Given the description of an element on the screen output the (x, y) to click on. 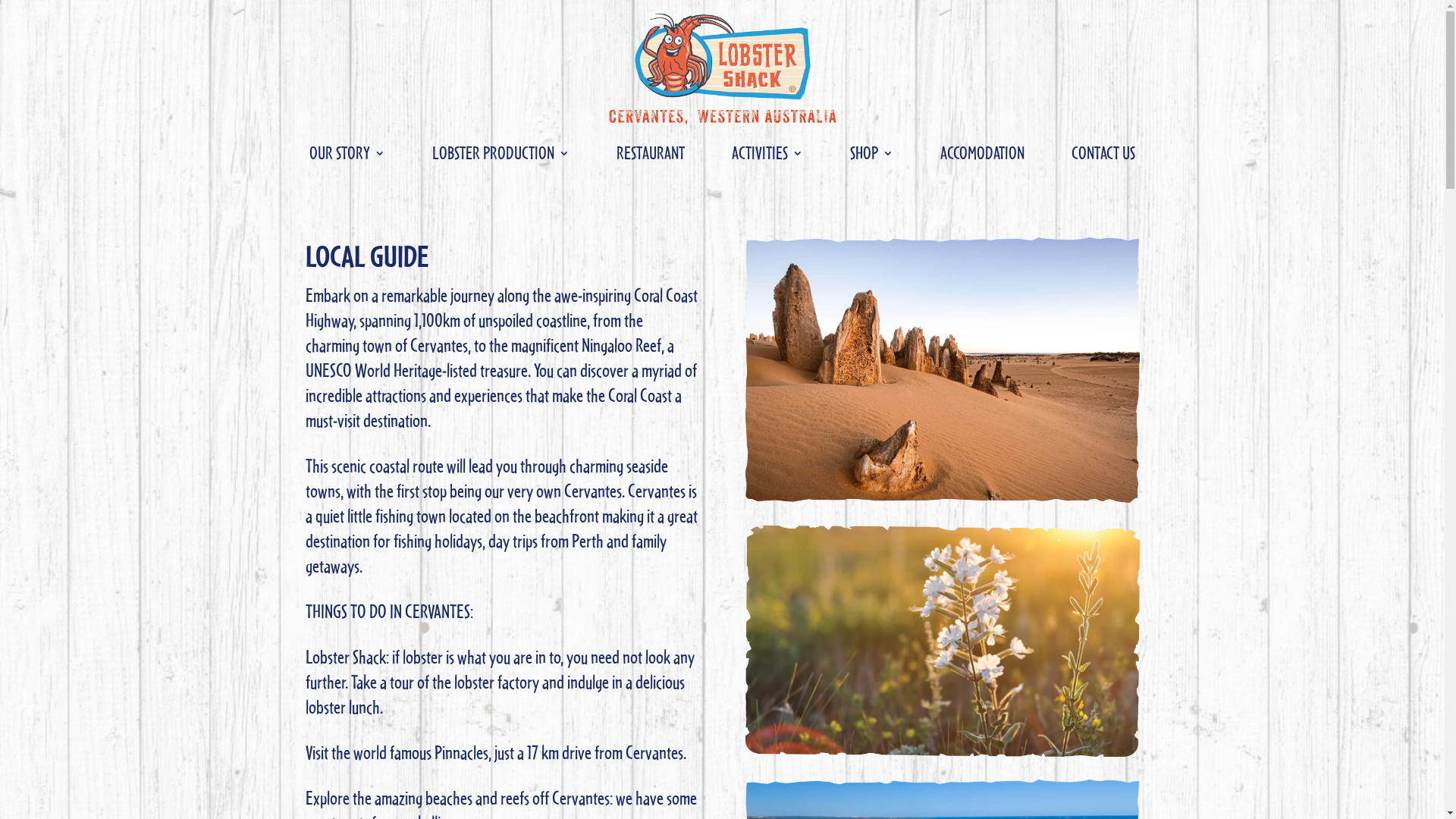
RESTAURANT Element type: text (650, 155)
OUR STORY Element type: text (347, 155)
LOBSTER PRODUCTION Element type: text (500, 155)
ACCOMODATION Element type: text (982, 155)
logo Element type: hover (721, 68)
ACTIVITIES Element type: text (767, 155)
beach3-05 Element type: hover (942, 369)
SHOP Element type: text (871, 155)
NEW_FLOWER-02[1] Element type: hover (942, 640)
CONTACT US Element type: text (1103, 155)
